Given the description of an element on the screen output the (x, y) to click on. 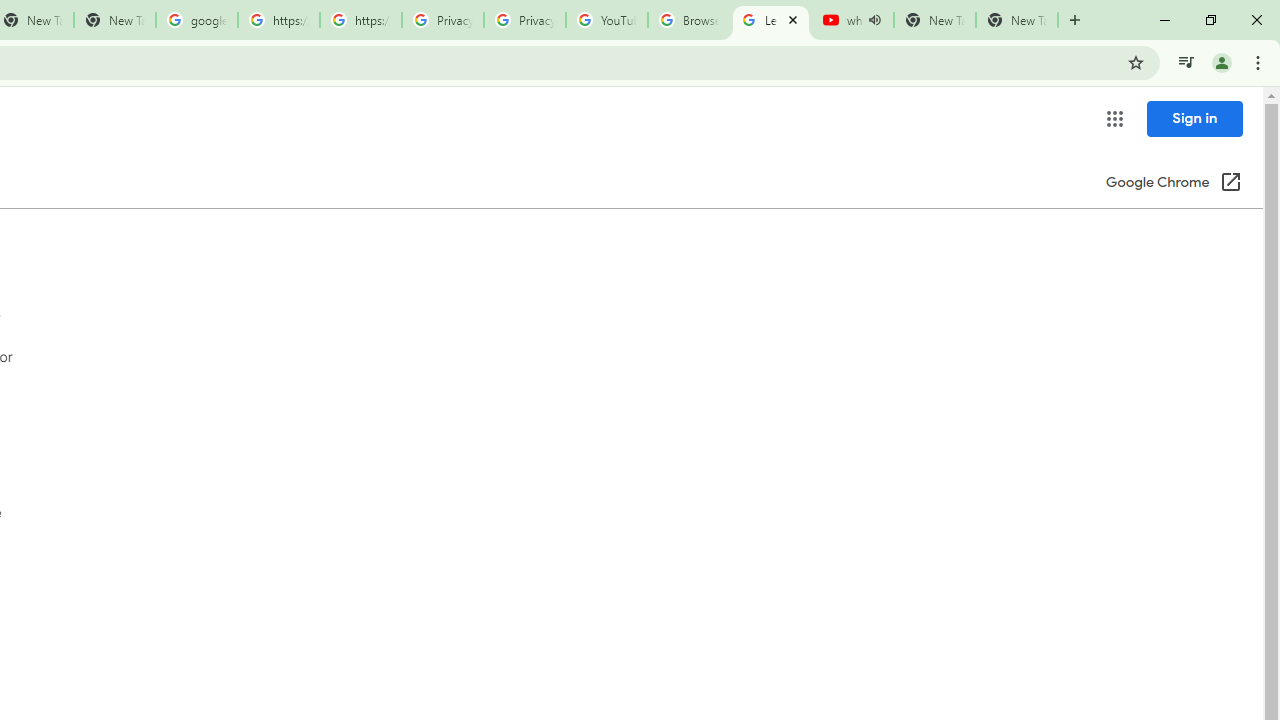
Google Chrome (Open in a new window) (1173, 183)
New Tab (1016, 20)
https://scholar.google.com/ (278, 20)
